Given the description of an element on the screen output the (x, y) to click on. 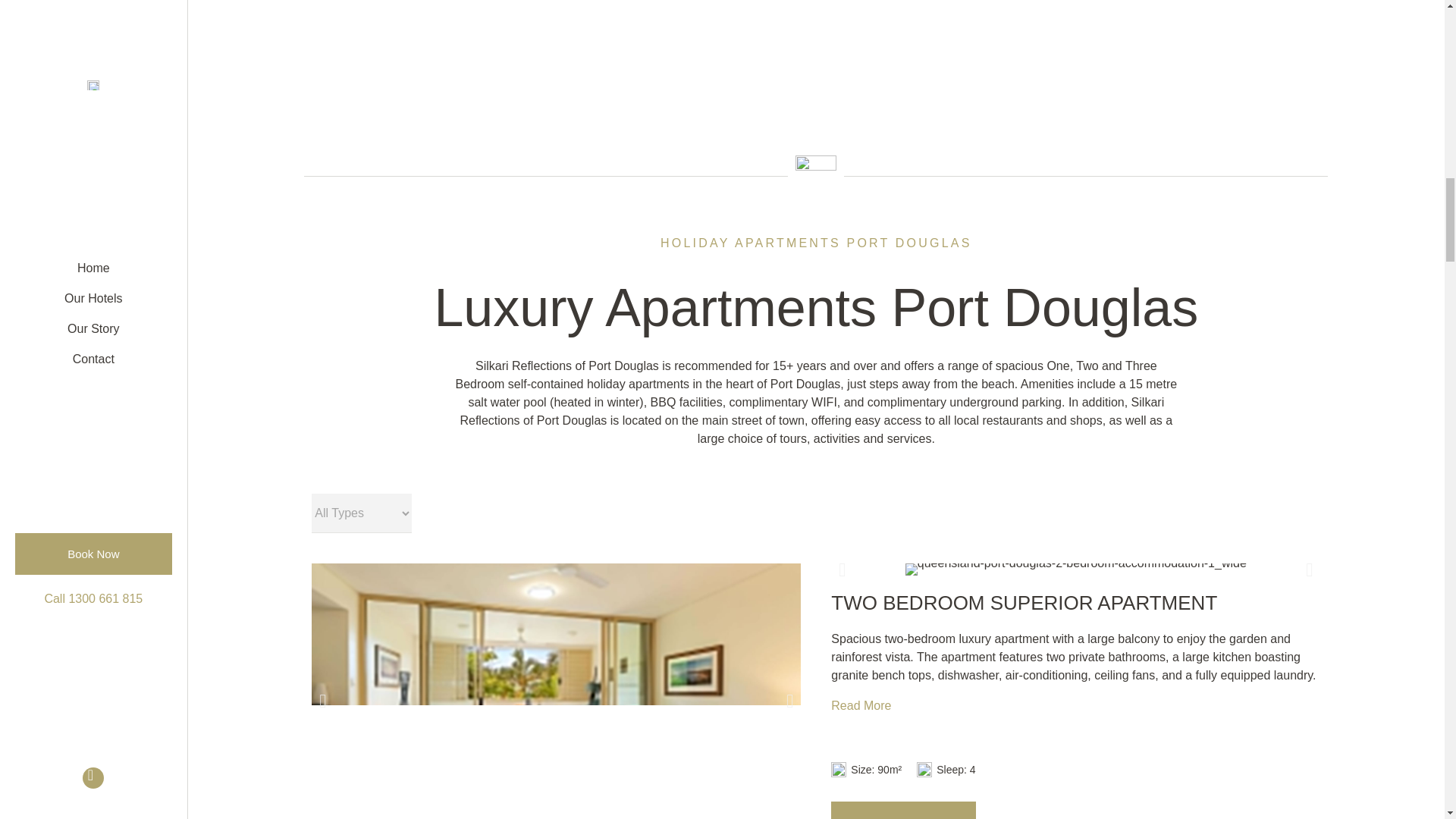
Read More (861, 705)
Book Now (903, 810)
